Given the description of an element on the screen output the (x, y) to click on. 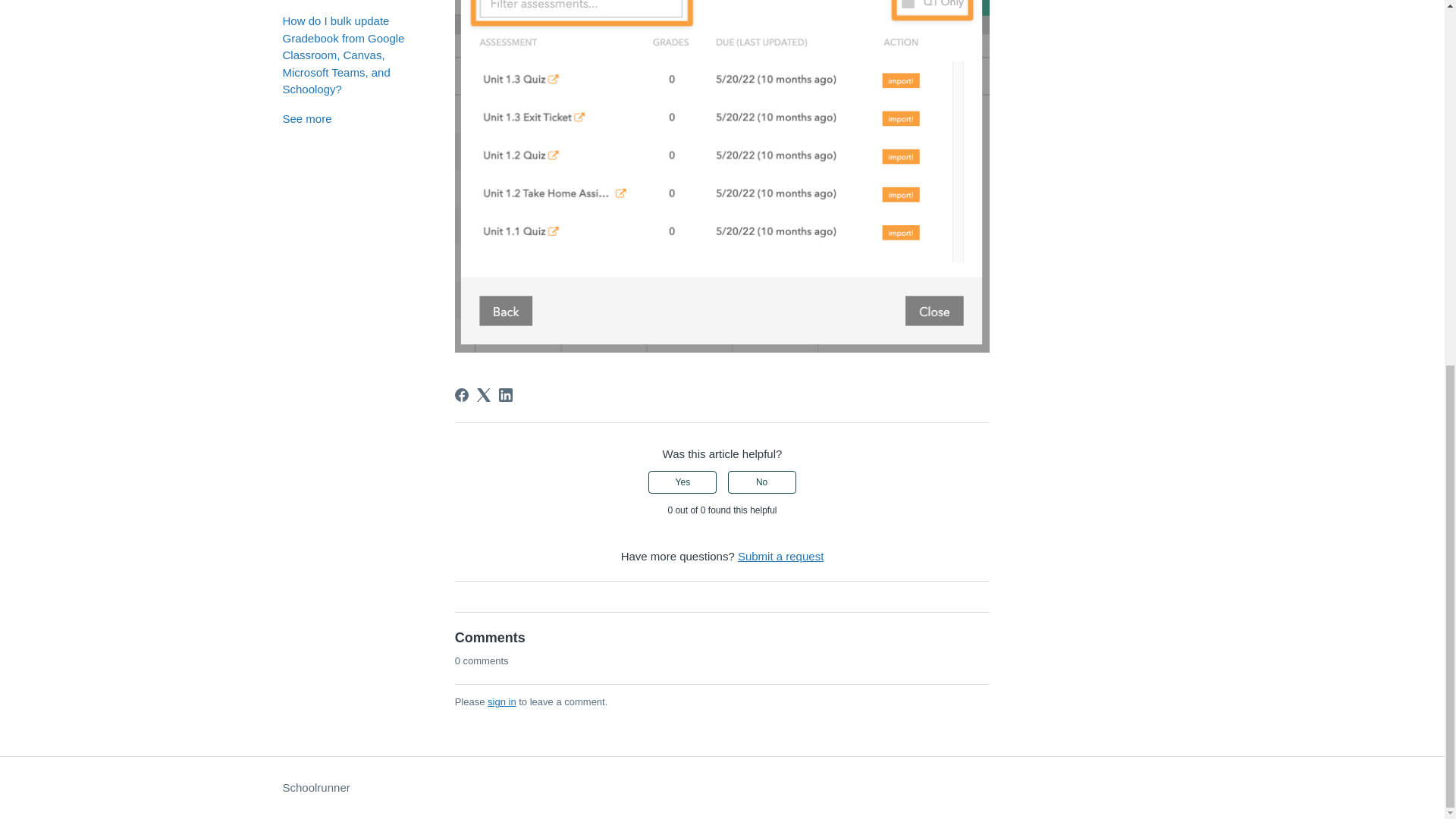
sign in (501, 701)
Yes (681, 481)
Home (315, 787)
Submit a request (781, 555)
No (762, 481)
Schoolrunner (315, 787)
See more (306, 118)
